Given the description of an element on the screen output the (x, y) to click on. 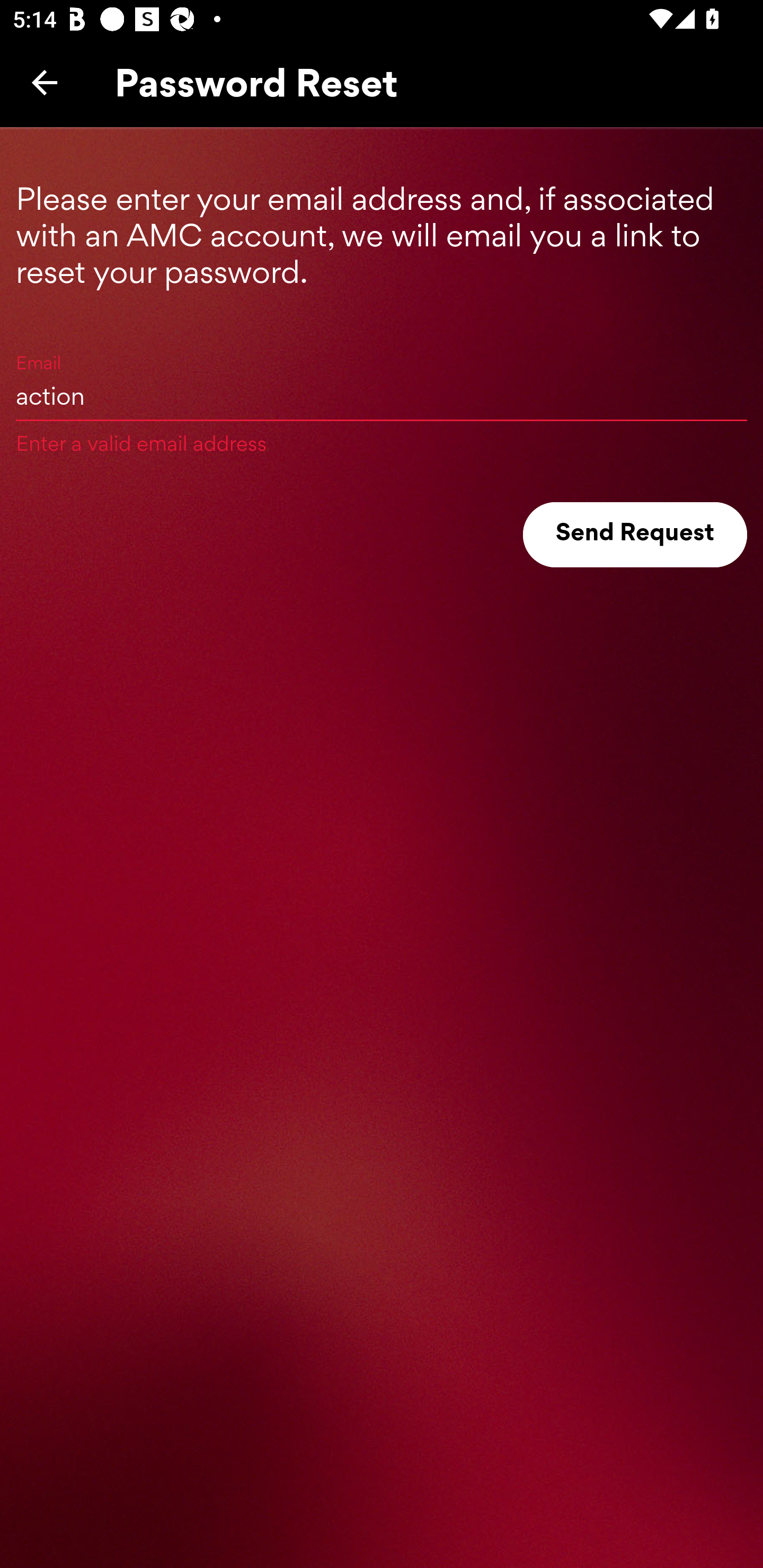
Back (44, 82)
action Enter a valid email address (381, 394)
Send Request (634, 535)
